Given the description of an element on the screen output the (x, y) to click on. 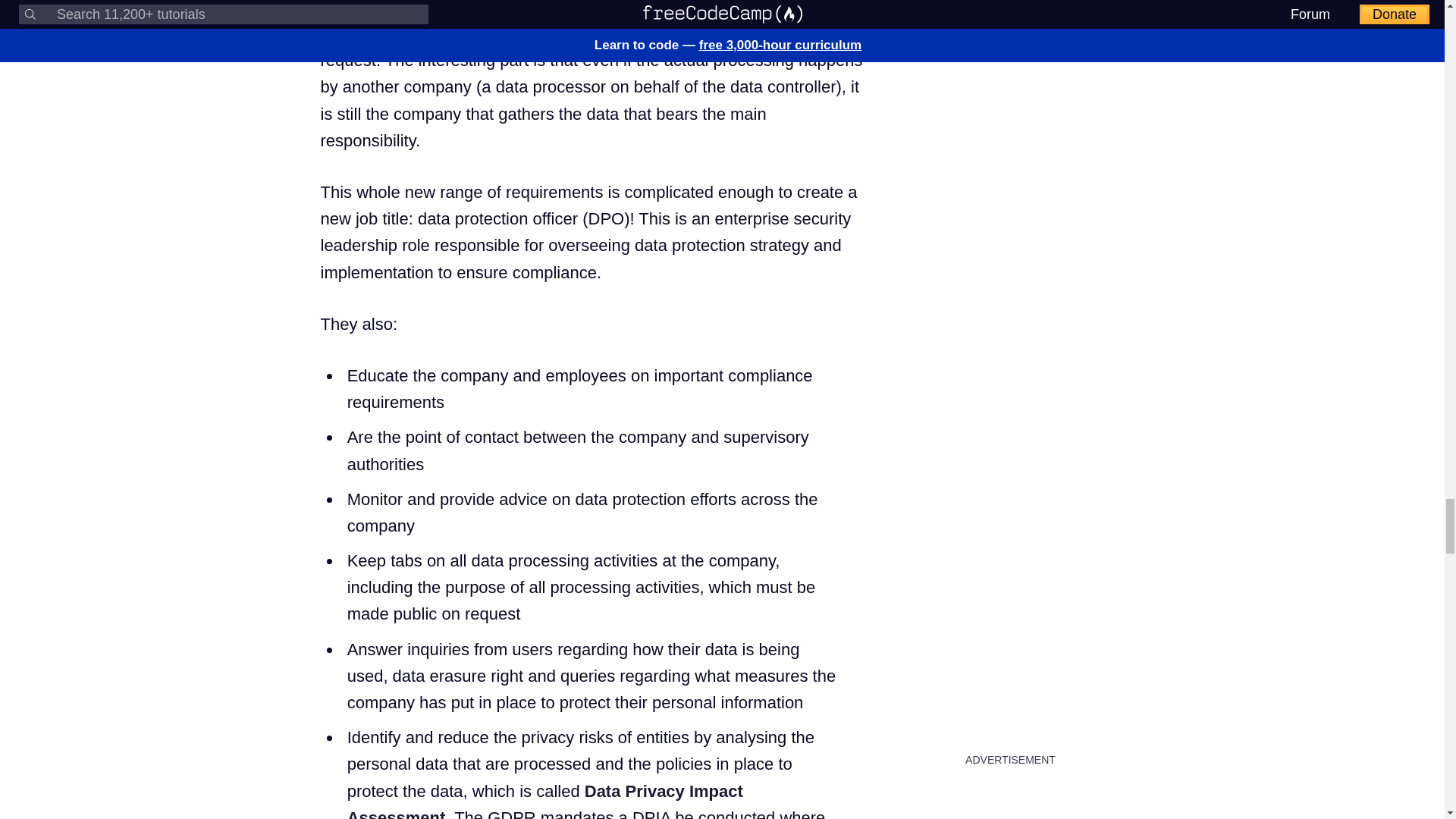
mandates a DPIA (604, 813)
